Given the description of an element on the screen output the (x, y) to click on. 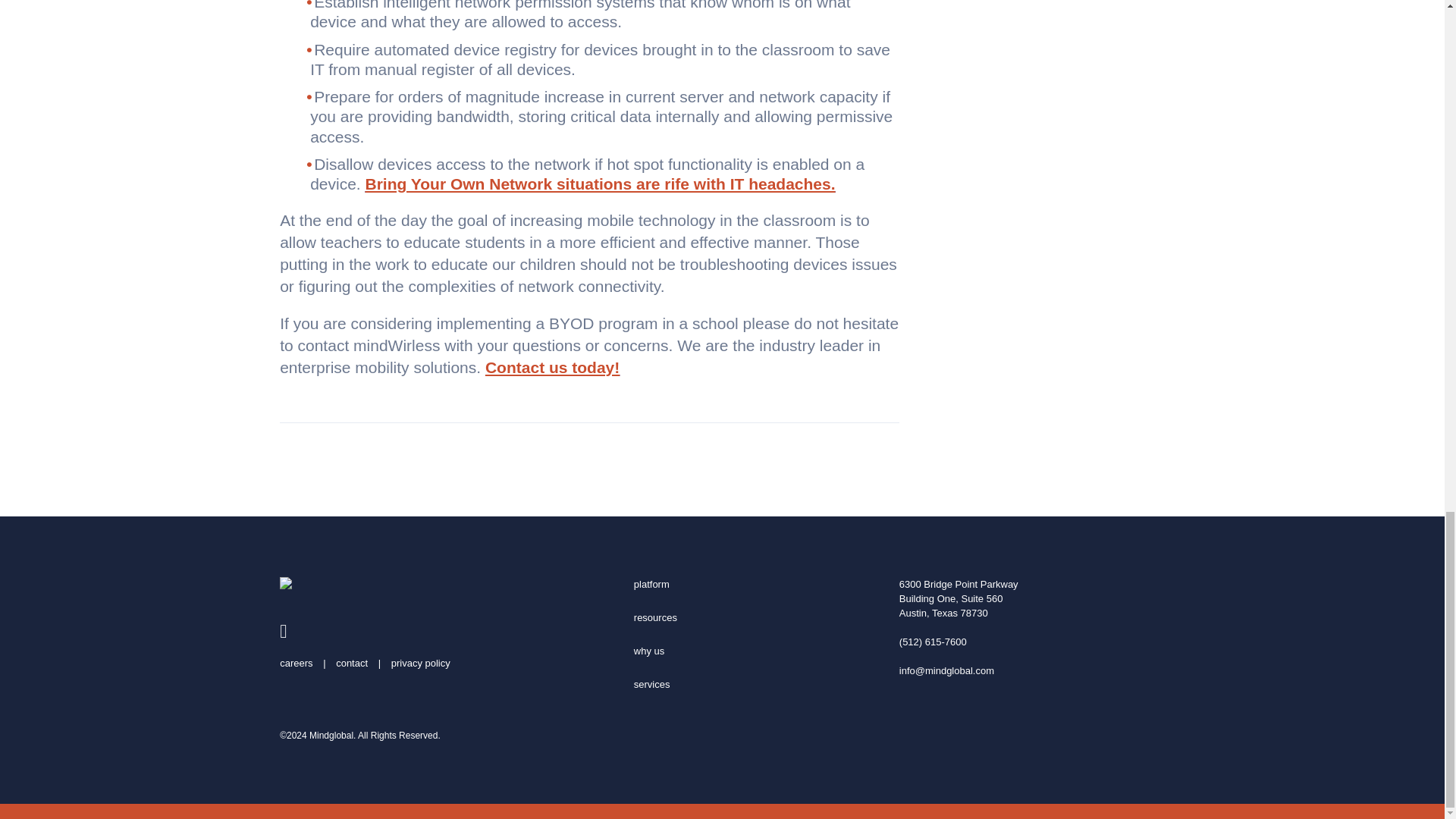
Contact us today! (552, 366)
platform (651, 584)
why us (648, 650)
careers (296, 663)
privacy policy (420, 663)
resources (655, 617)
contact (352, 663)
